Given the description of an element on the screen output the (x, y) to click on. 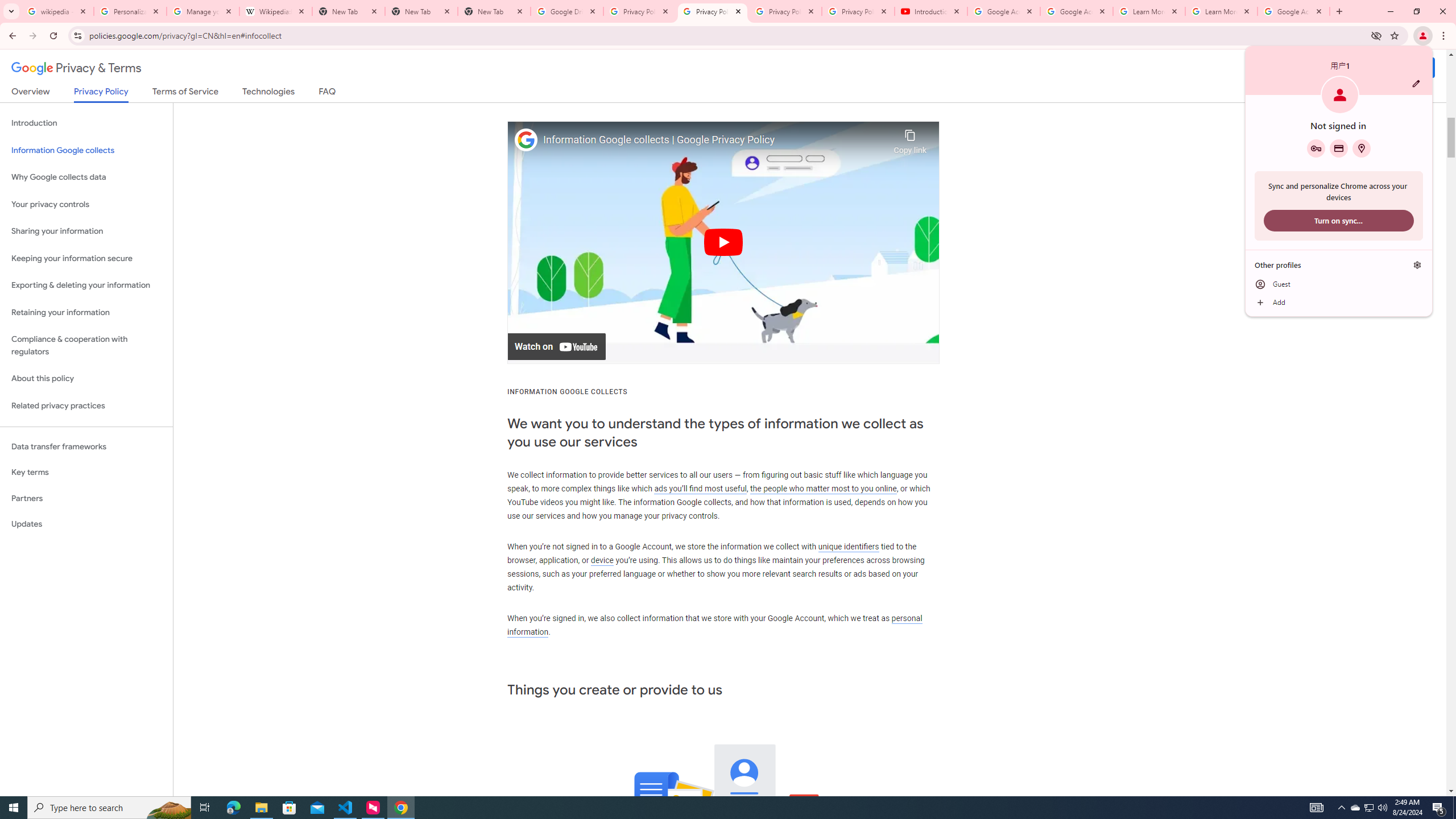
Keeping your information secure (86, 258)
Q2790: 100% (1382, 807)
Partners (86, 497)
Running applications (717, 807)
Action Center, 5 new notifications (1439, 807)
